Given the description of an element on the screen output the (x, y) to click on. 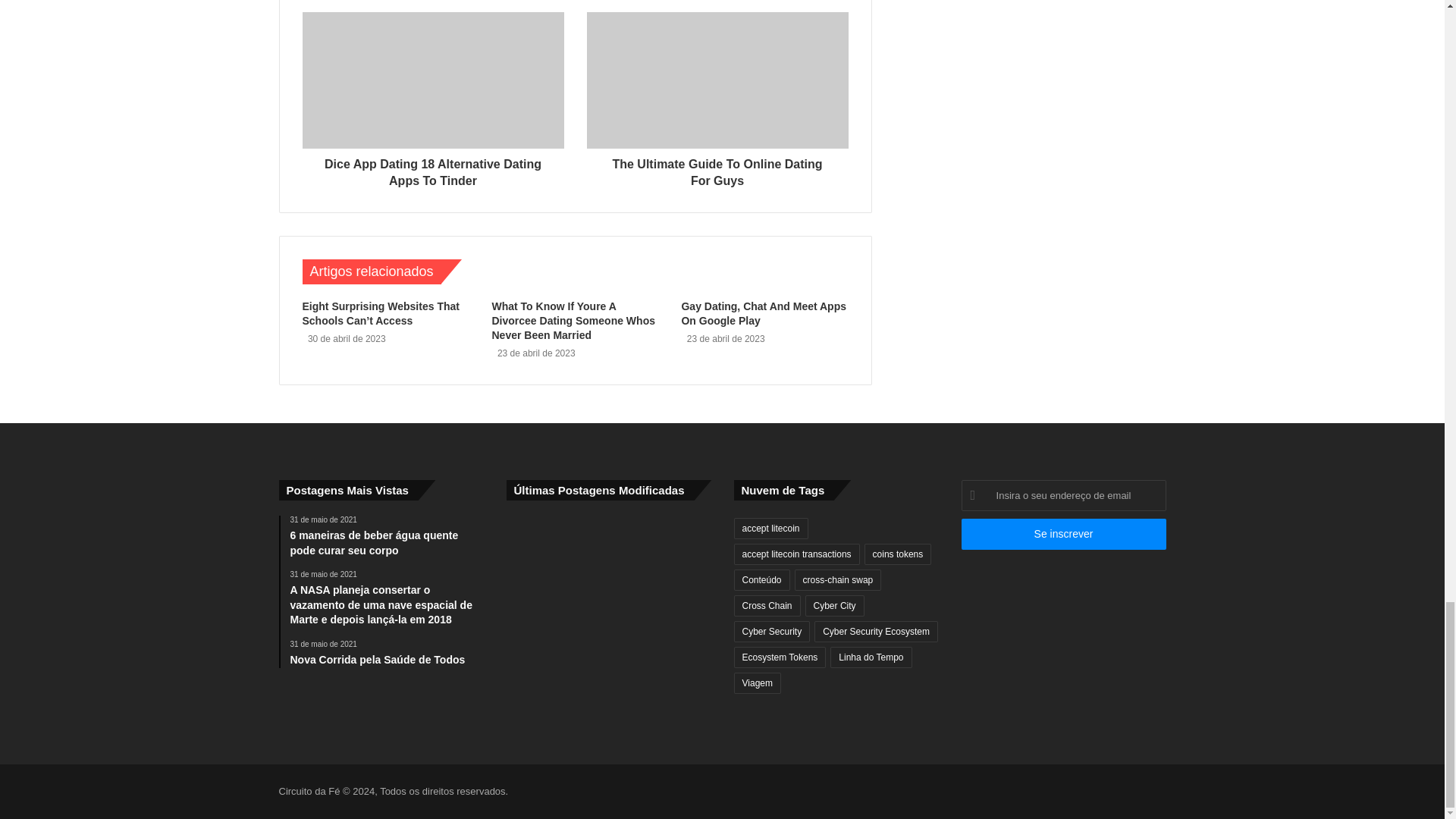
Se inscrever (1063, 533)
